Given the description of an element on the screen output the (x, y) to click on. 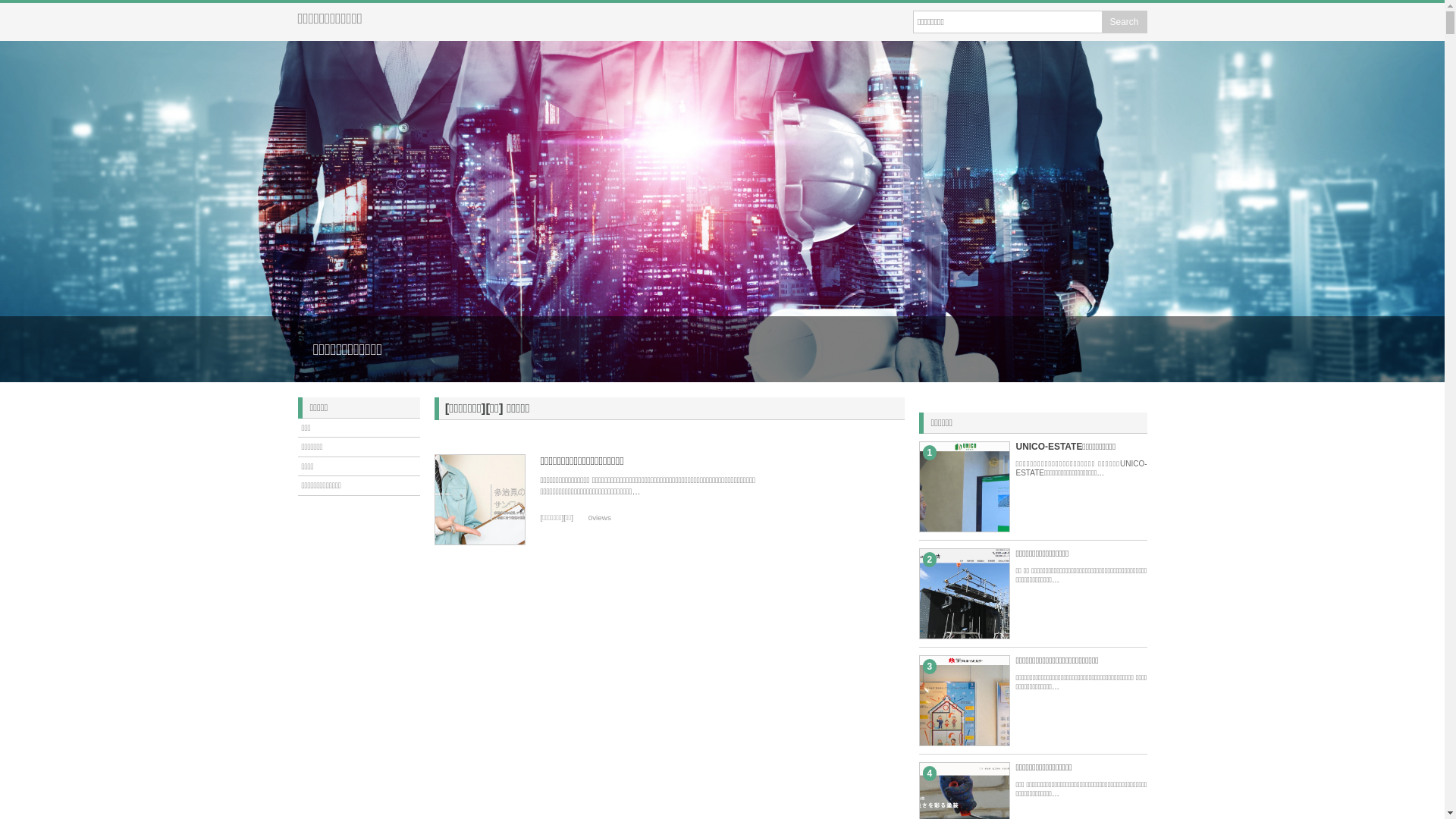
Search Element type: text (1123, 21)
1 Element type: text (1008, 567)
2 Element type: text (1008, 674)
